Given the description of an element on the screen output the (x, y) to click on. 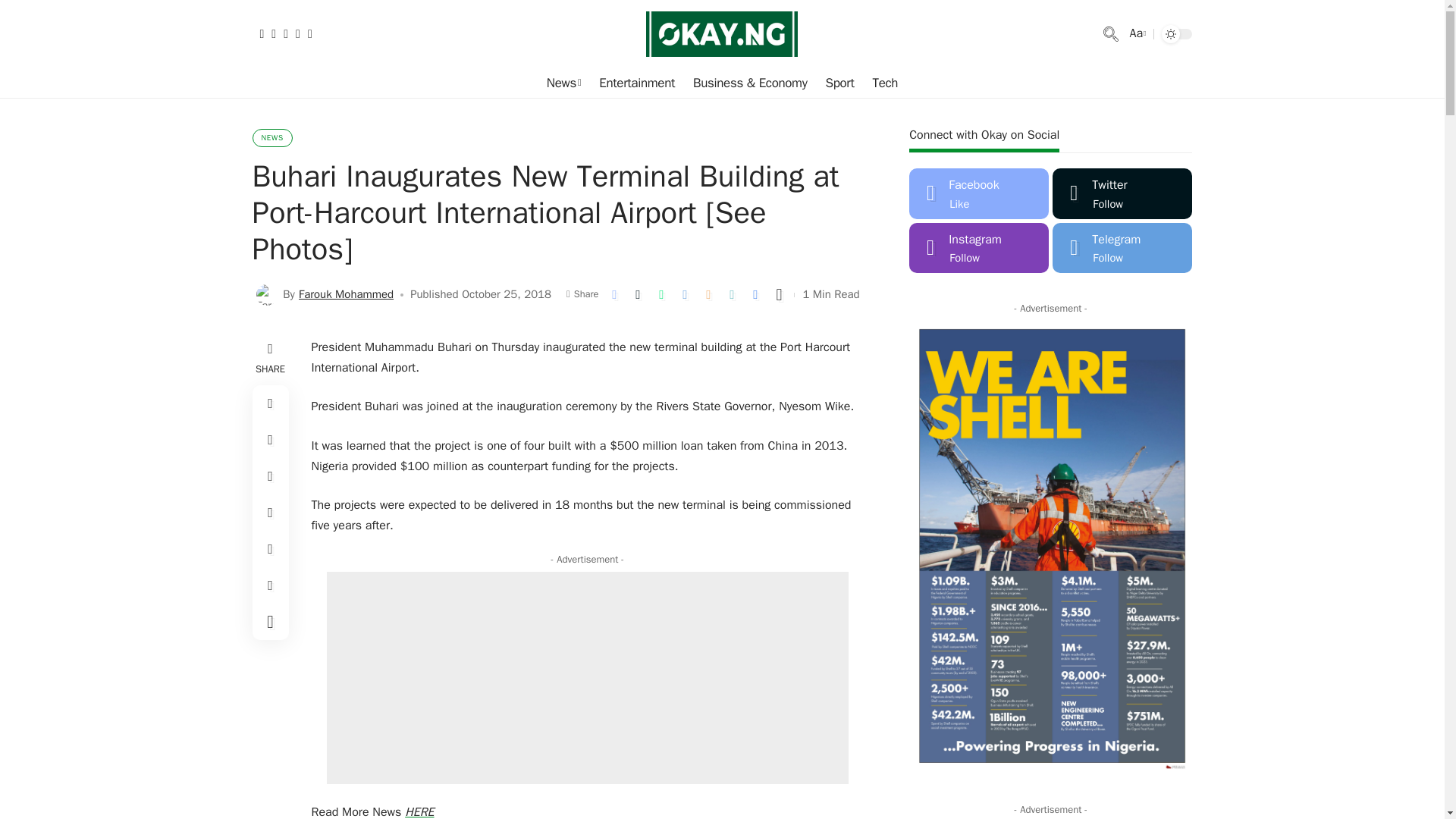
Entertainment (636, 82)
News (563, 82)
Okay.ng (721, 33)
Tech (885, 82)
Sport (839, 82)
Aa (1135, 33)
